Given the description of an element on the screen output the (x, y) to click on. 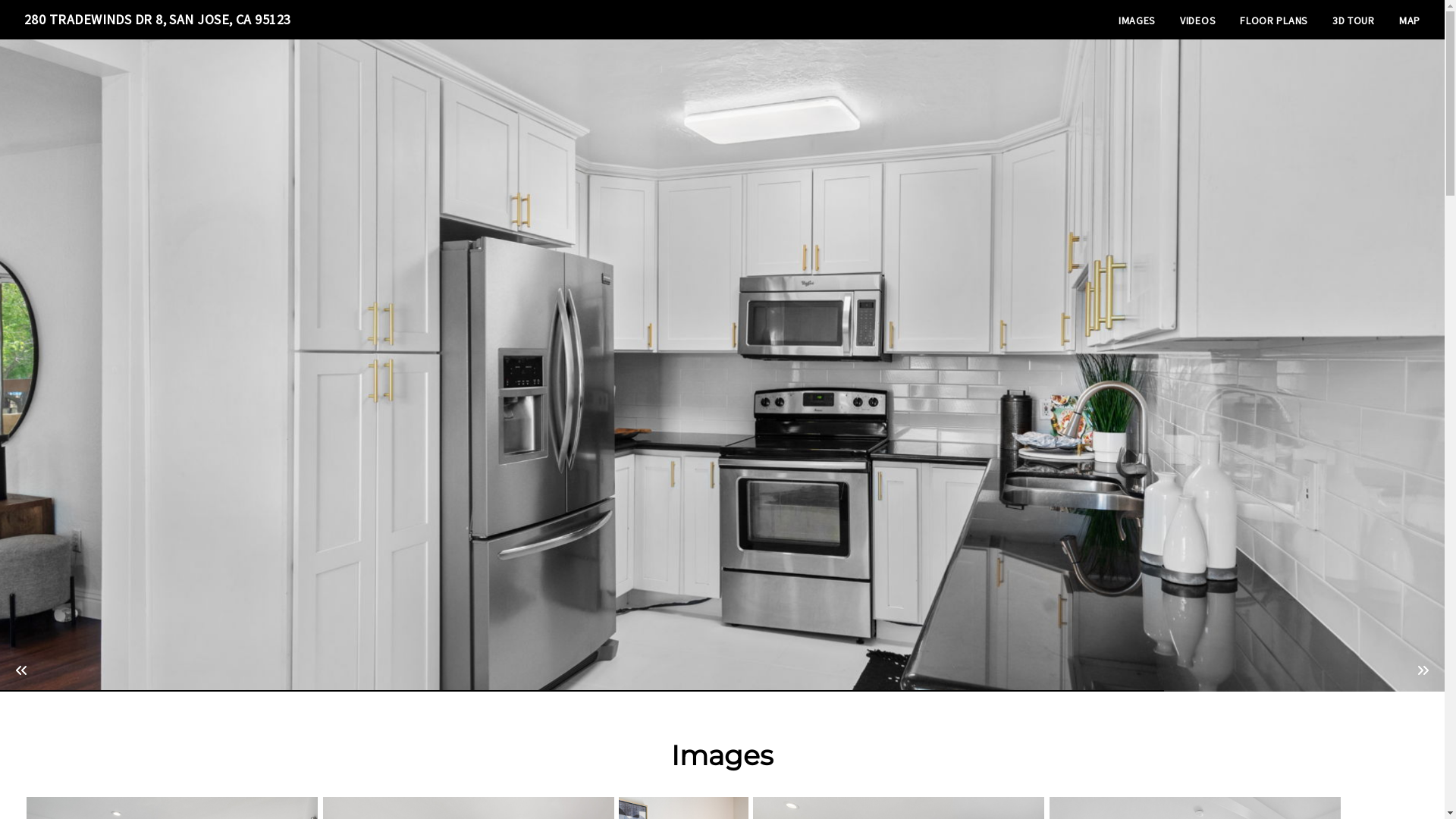
Previous Photo Element type: text (21, 670)
MAP Element type: text (1409, 20)
FLOOR PLANS Element type: text (1273, 20)
VIDEOS Element type: text (1197, 20)
3D TOUR Element type: text (1353, 20)
Next Photo Element type: text (1423, 670)
IMAGES Element type: text (1136, 20)
280 TRADEWINDS DR 8, SAN JOSE, CA 95123 Element type: text (157, 19)
